Given the description of an element on the screen output the (x, y) to click on. 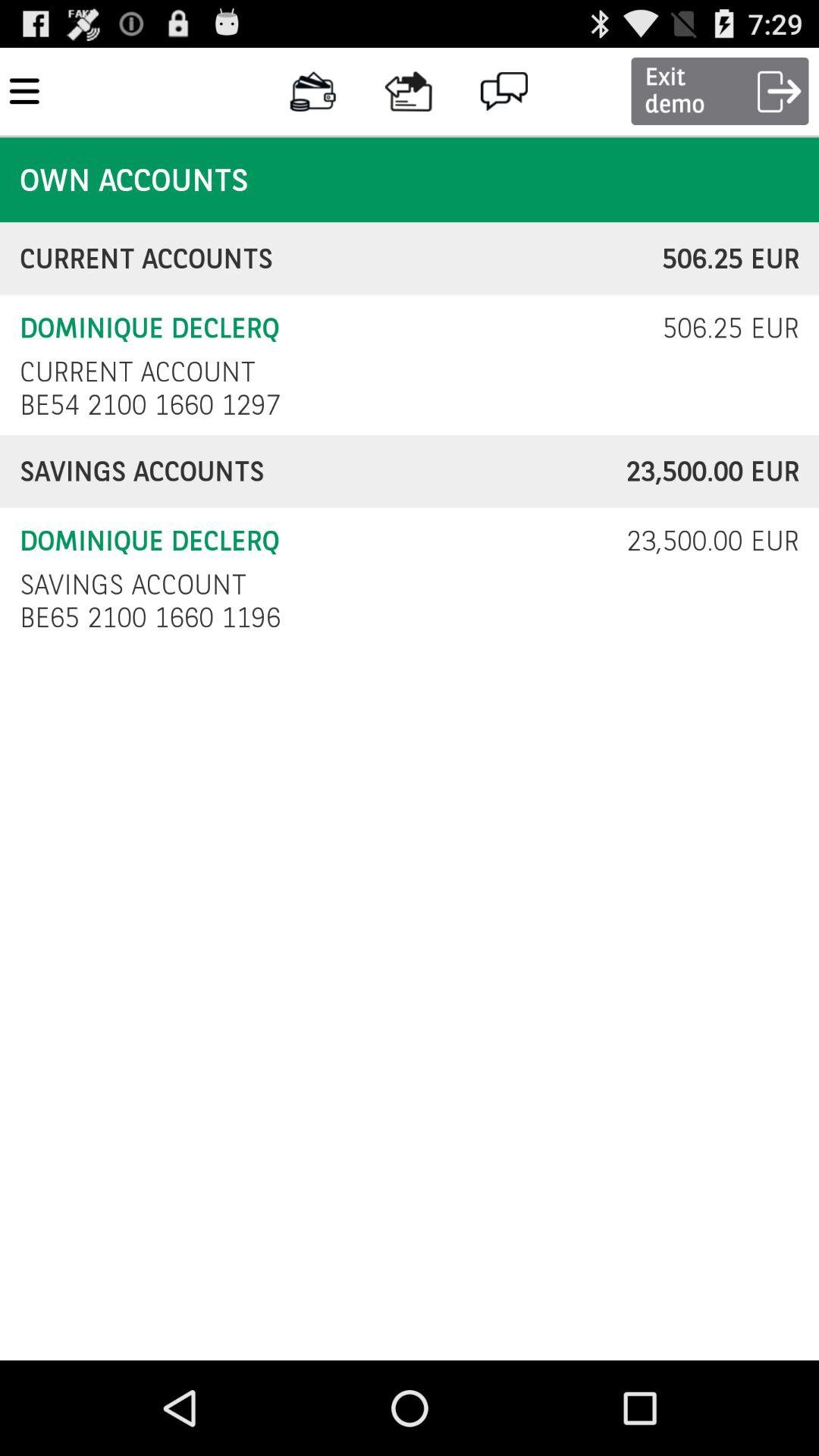
click the button on the right next to the top left corner button on the web page (313, 91)
the message icon at the top of the page (504, 91)
click on the menu icon shown at the top left corner (24, 90)
click the icon on left to the chat icon on the web page (408, 91)
